Given the description of an element on the screen output the (x, y) to click on. 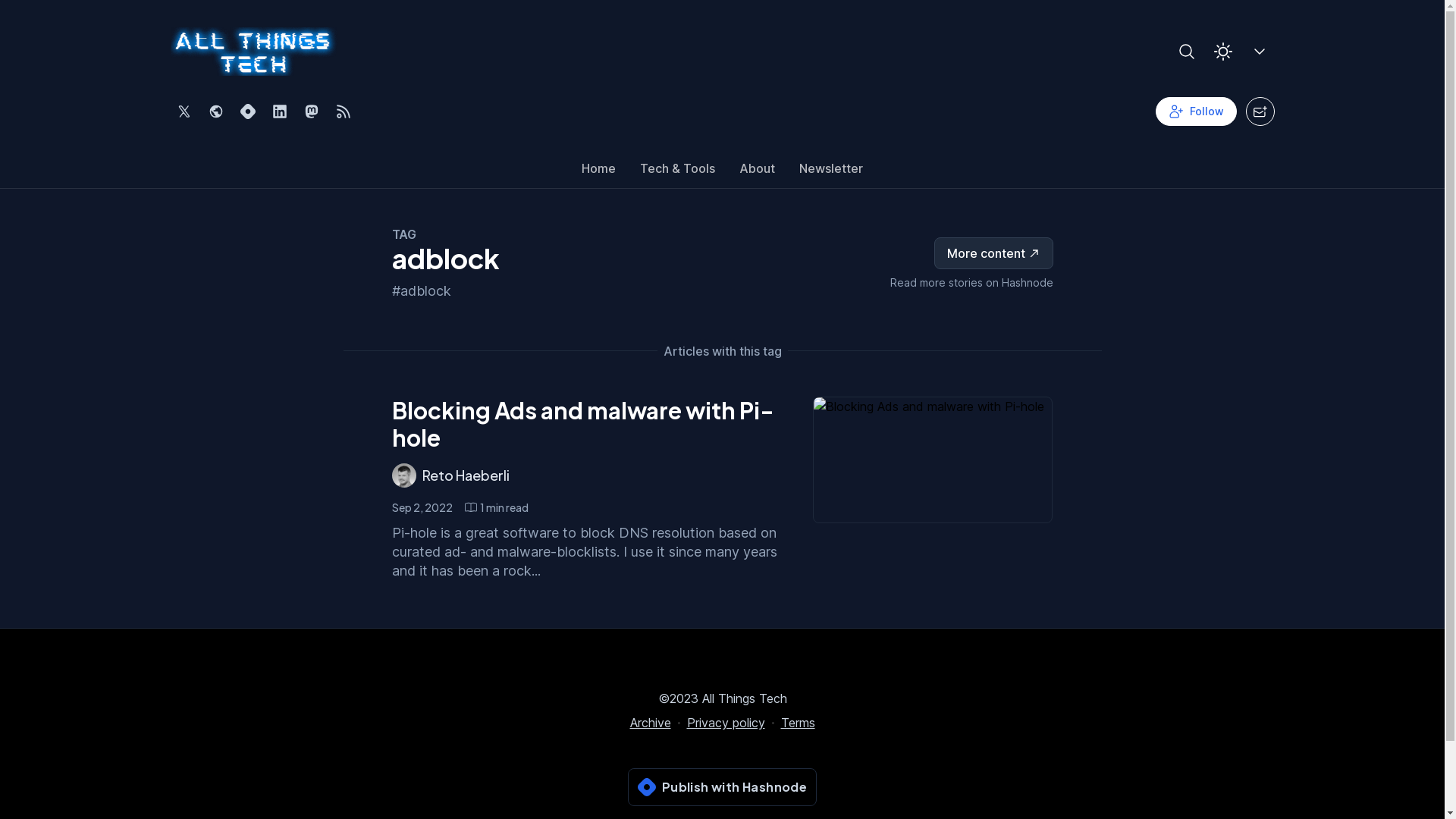
Tech & Tools Element type: text (677, 172)
Home Element type: text (598, 172)
Blocking Ads and malware with Pi-hole Element type: text (582, 423)
Newsletter Element type: text (831, 172)
Sep 2, 2022
1 min read Element type: text (459, 506)
Reto Haeberli Element type: text (464, 475)
Follow Element type: text (1195, 111)
More content Element type: text (993, 252)
Archive Element type: text (649, 722)
Privacy policy Element type: text (726, 722)
Publish with Hashnode Element type: text (721, 787)
Terms Element type: text (798, 722)
About Element type: text (757, 172)
